Given the description of an element on the screen output the (x, y) to click on. 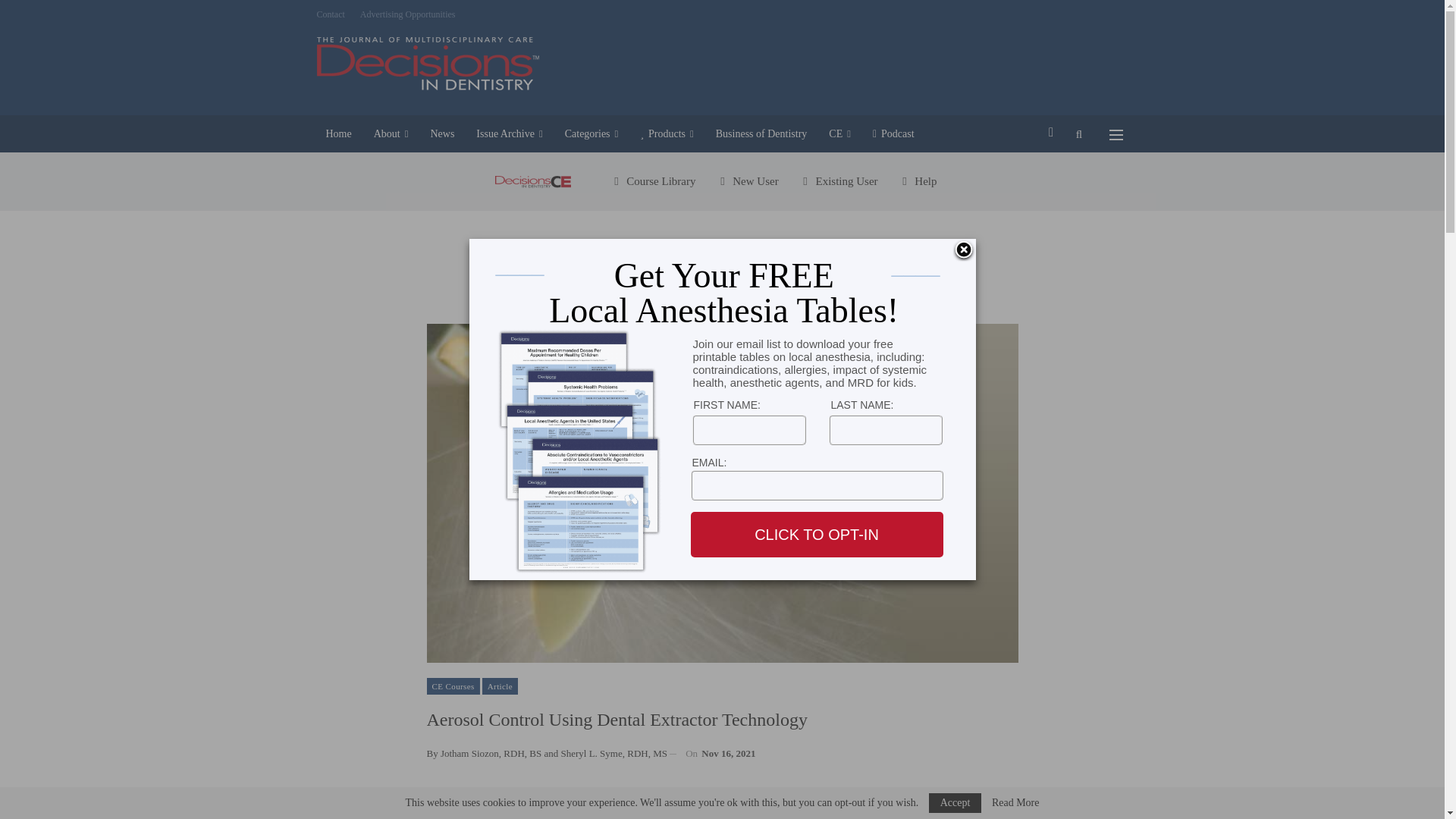
Existing User (837, 180)
New User (746, 180)
3rd party ad content (868, 63)
View Catalog (652, 180)
CLICK TO OPT-IN (816, 534)
FAQ (916, 180)
